Given the description of an element on the screen output the (x, y) to click on. 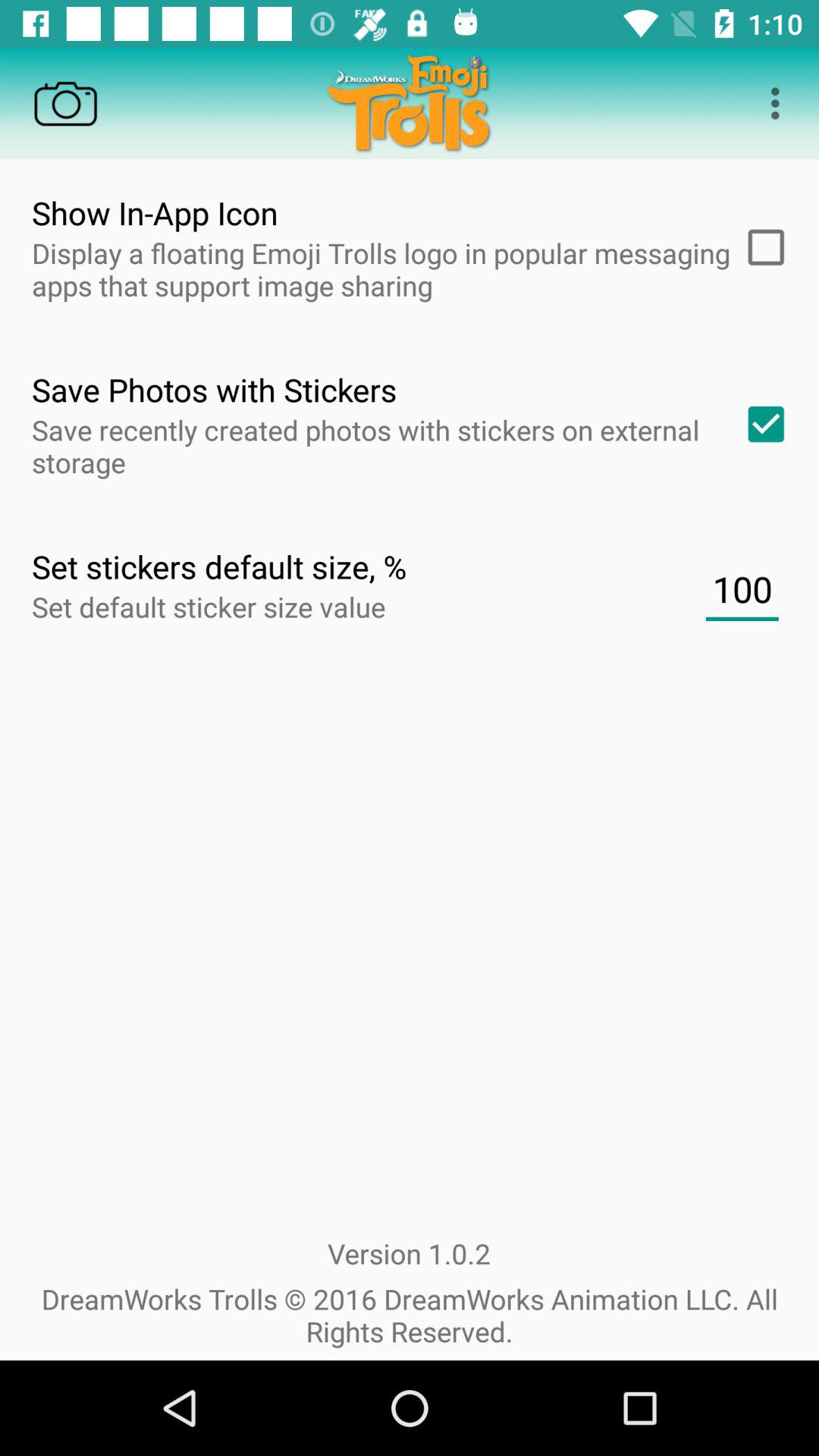
select function (760, 247)
